Given the description of an element on the screen output the (x, y) to click on. 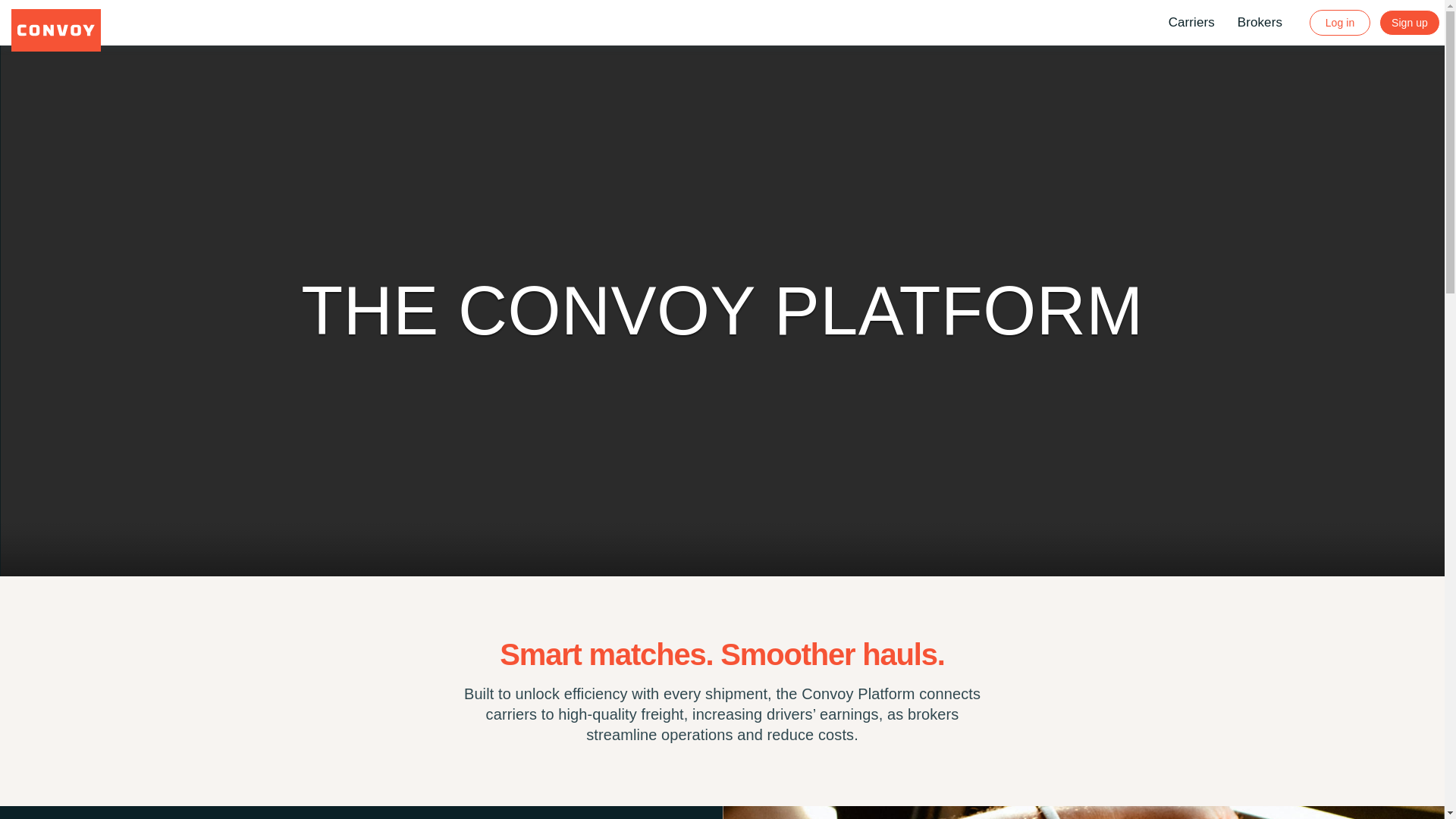
Brokers (1259, 22)
Sign up (1408, 22)
Carriers (1191, 22)
Convoy (55, 30)
Log in (1339, 22)
